Given the description of an element on the screen output the (x, y) to click on. 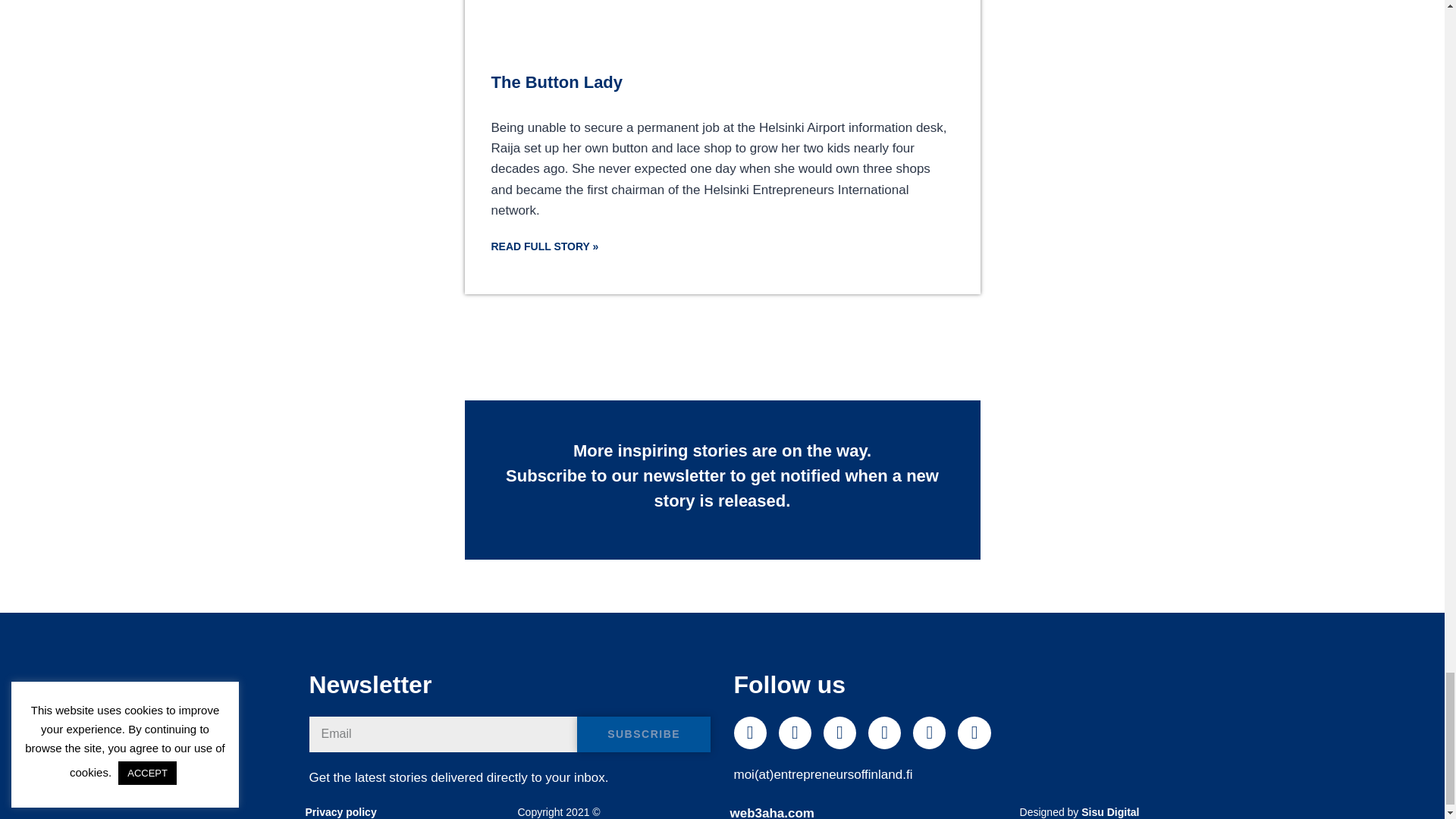
SUBSCRIBE (643, 734)
Movies 5 (721, 28)
The Button Lady (557, 81)
